Given the description of an element on the screen output the (x, y) to click on. 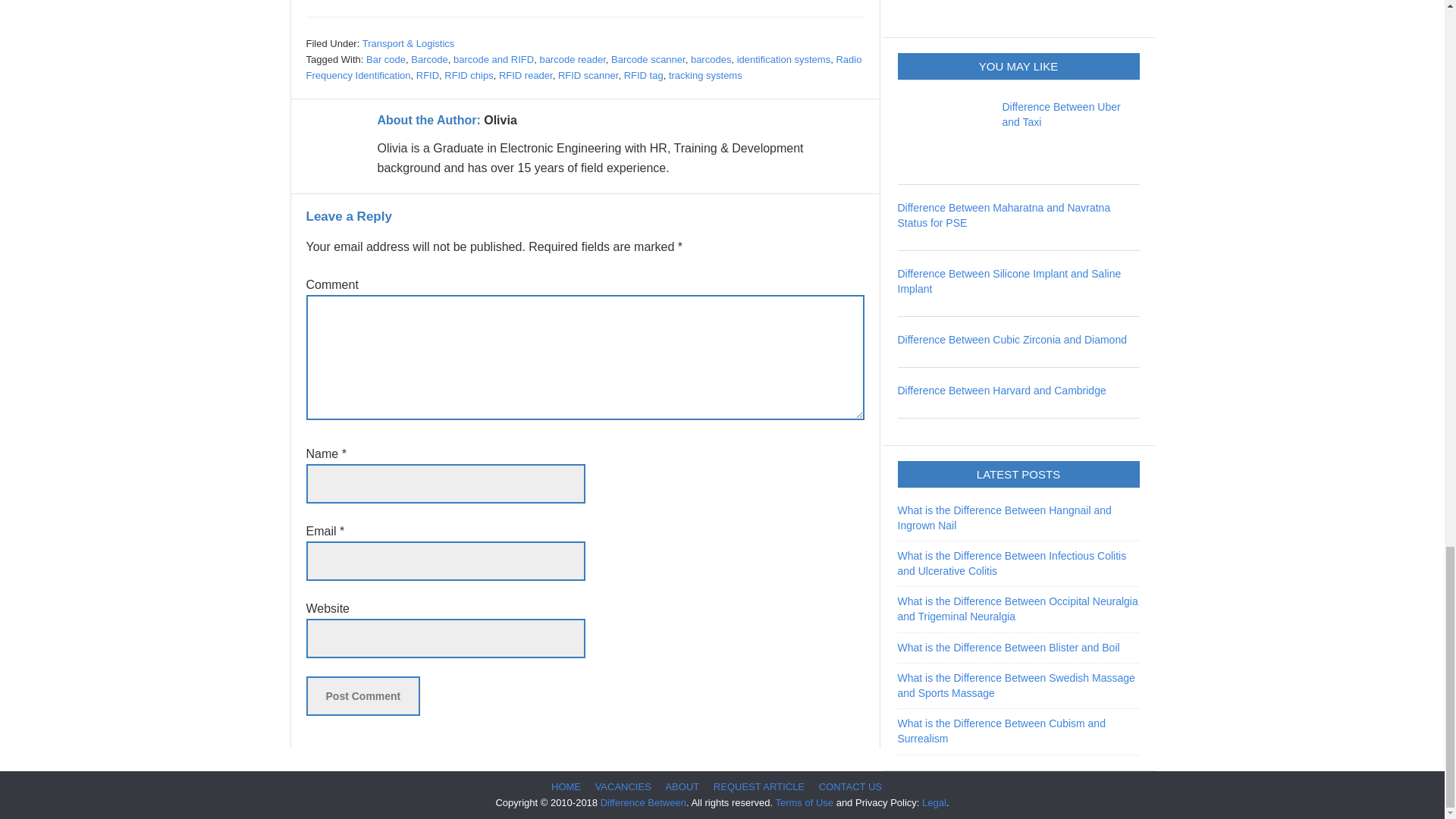
barcode and RIFD (493, 59)
Difference Between Sourcing and Procurement (361, 0)
Post Comment (362, 695)
RFID (427, 75)
RFID scanner (587, 75)
Advertisement (1011, 8)
Difference Between Sourcing and Procurement (361, 0)
Bar code (386, 59)
barcode reader (571, 59)
Post Comment (362, 695)
Radio Frequency Identification (583, 67)
RFID reader (526, 75)
tracking systems (705, 75)
barcodes (710, 59)
RFID chips (468, 75)
